Given the description of an element on the screen output the (x, y) to click on. 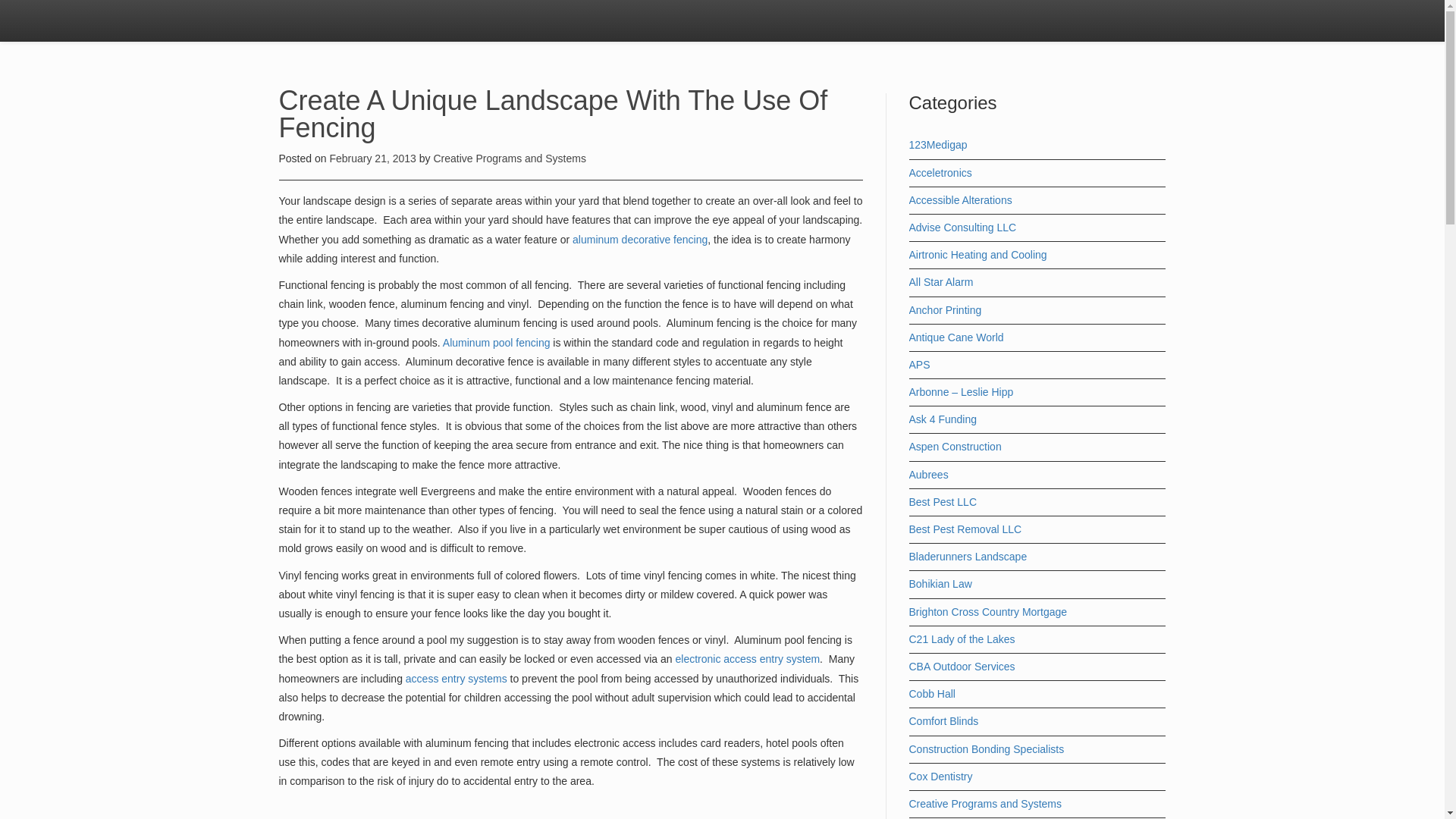
Airtronic Heating and Cooling (977, 254)
February 21, 2013 (374, 158)
All Star Alarm (940, 282)
Best Pest Removal LLC (965, 529)
Cox Dentistry (940, 776)
Accessible Alterations (959, 200)
access entry systems (456, 677)
Construction Bonding Specialists (986, 748)
Ask 4 Funding (942, 419)
Create A Unique Landscape With The Use Of Fencing (553, 114)
